Given the description of an element on the screen output the (x, y) to click on. 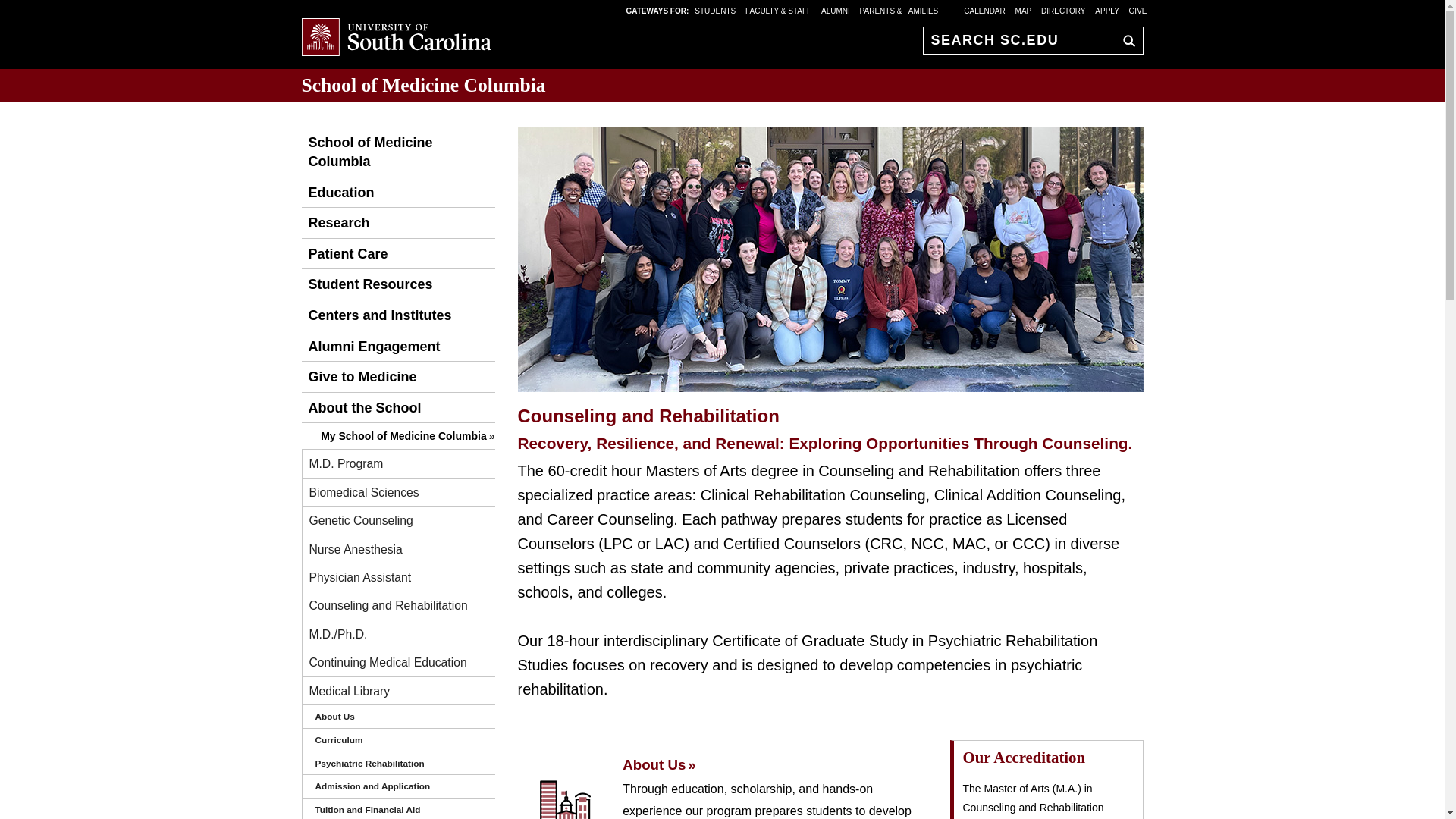
University of South Carolina Home (396, 38)
School of Medicine Columbia (398, 151)
DIRECTORY (1063, 9)
ALUMNI (835, 9)
GIVE (1138, 9)
APPLY (1106, 9)
GO (1125, 40)
MAP (1023, 9)
STUDENTS (716, 9)
CALENDAR (983, 9)
GO (1125, 40)
sc.edu Search (1125, 40)
School of Medicine Columbia (423, 85)
